Given the description of an element on the screen output the (x, y) to click on. 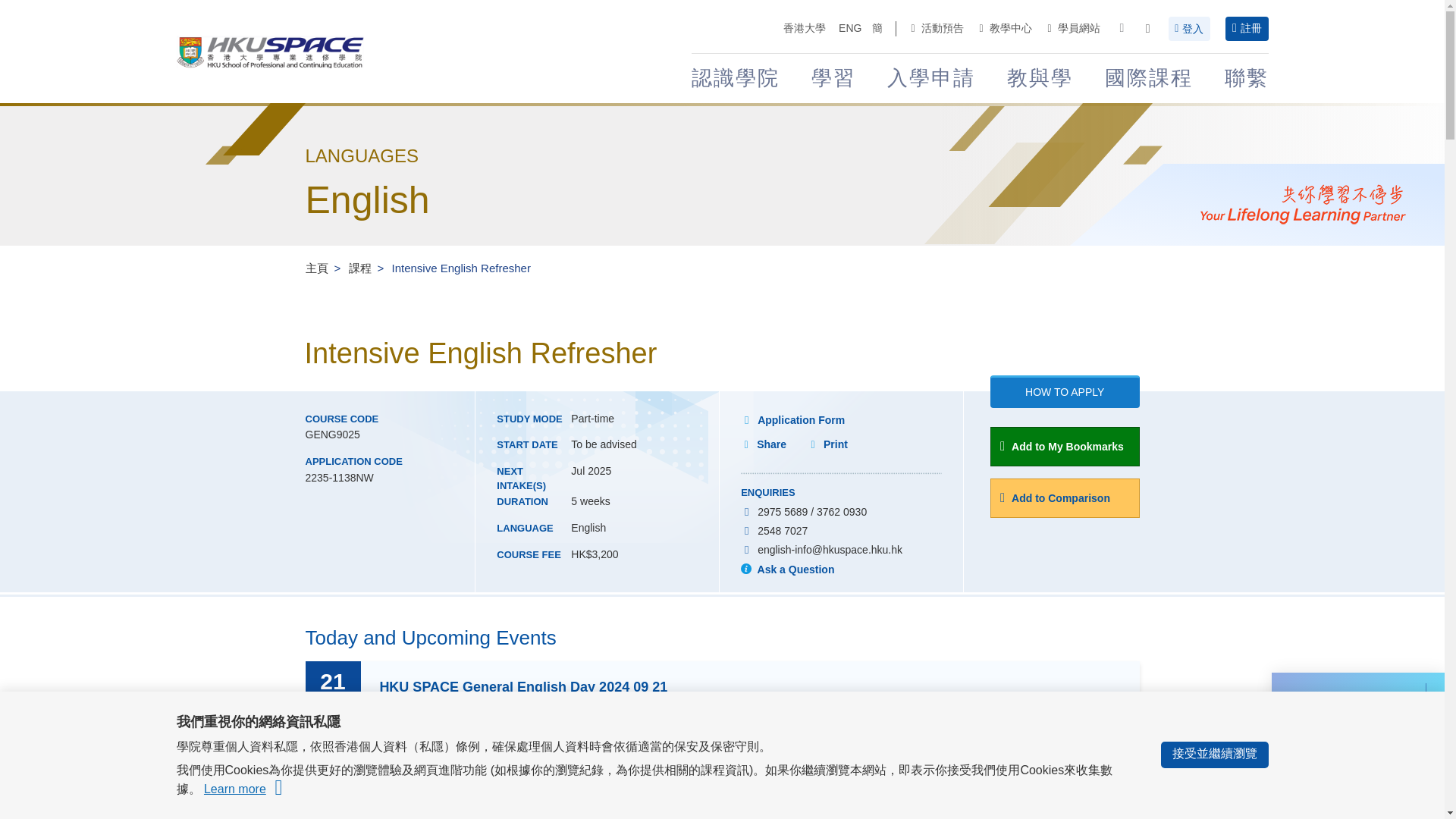
ENG (849, 28)
